Given the description of an element on the screen output the (x, y) to click on. 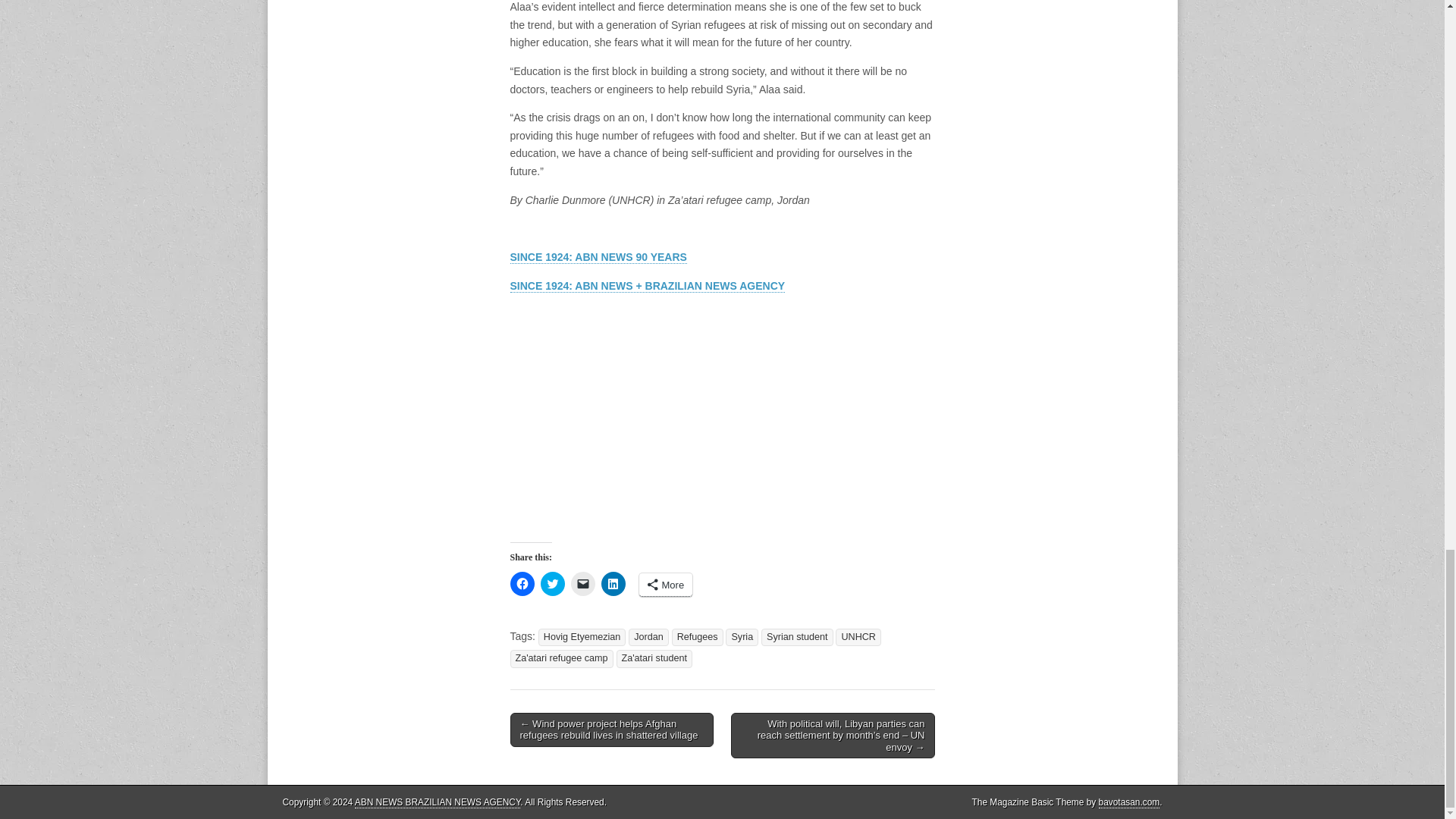
Click to share on Facebook (521, 583)
Za'atari refugee camp (560, 658)
Click to share on Twitter (552, 583)
Hovig Etyemezian (582, 637)
UNHCR (857, 637)
Syrian student (796, 637)
Click to email a link to a friend (582, 583)
Click to share on LinkedIn (611, 583)
Jordan (648, 637)
More (666, 585)
